Given the description of an element on the screen output the (x, y) to click on. 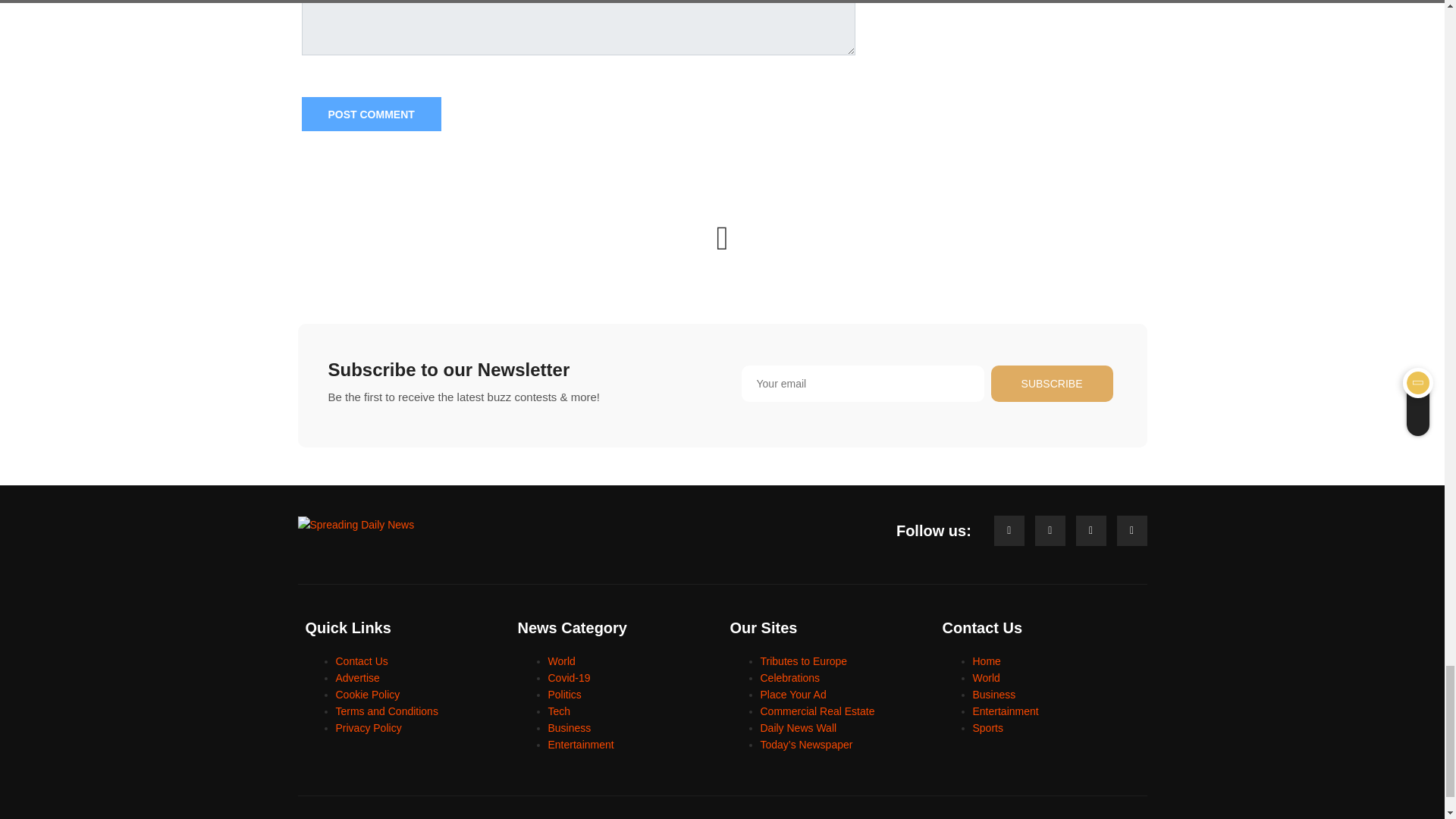
Post Comment (371, 114)
Post Comment (371, 114)
Subscribe (1052, 383)
